Given the description of an element on the screen output the (x, y) to click on. 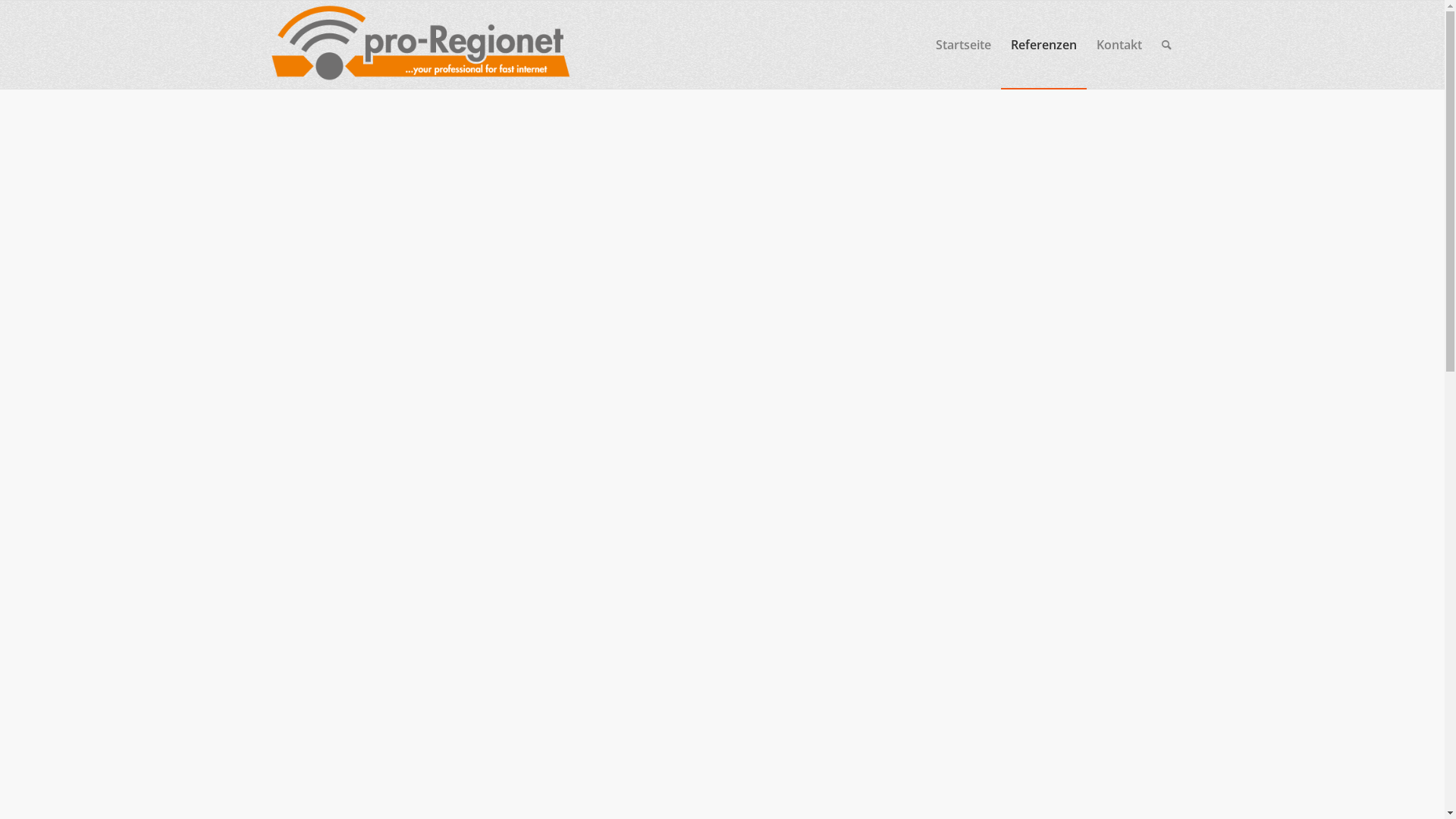
Referenzen Element type: text (1043, 44)
180724_Logo_ProRegionet Element type: hover (420, 44)
Startseite Element type: text (962, 44)
Kontakt Element type: text (1118, 44)
